Given the description of an element on the screen output the (x, y) to click on. 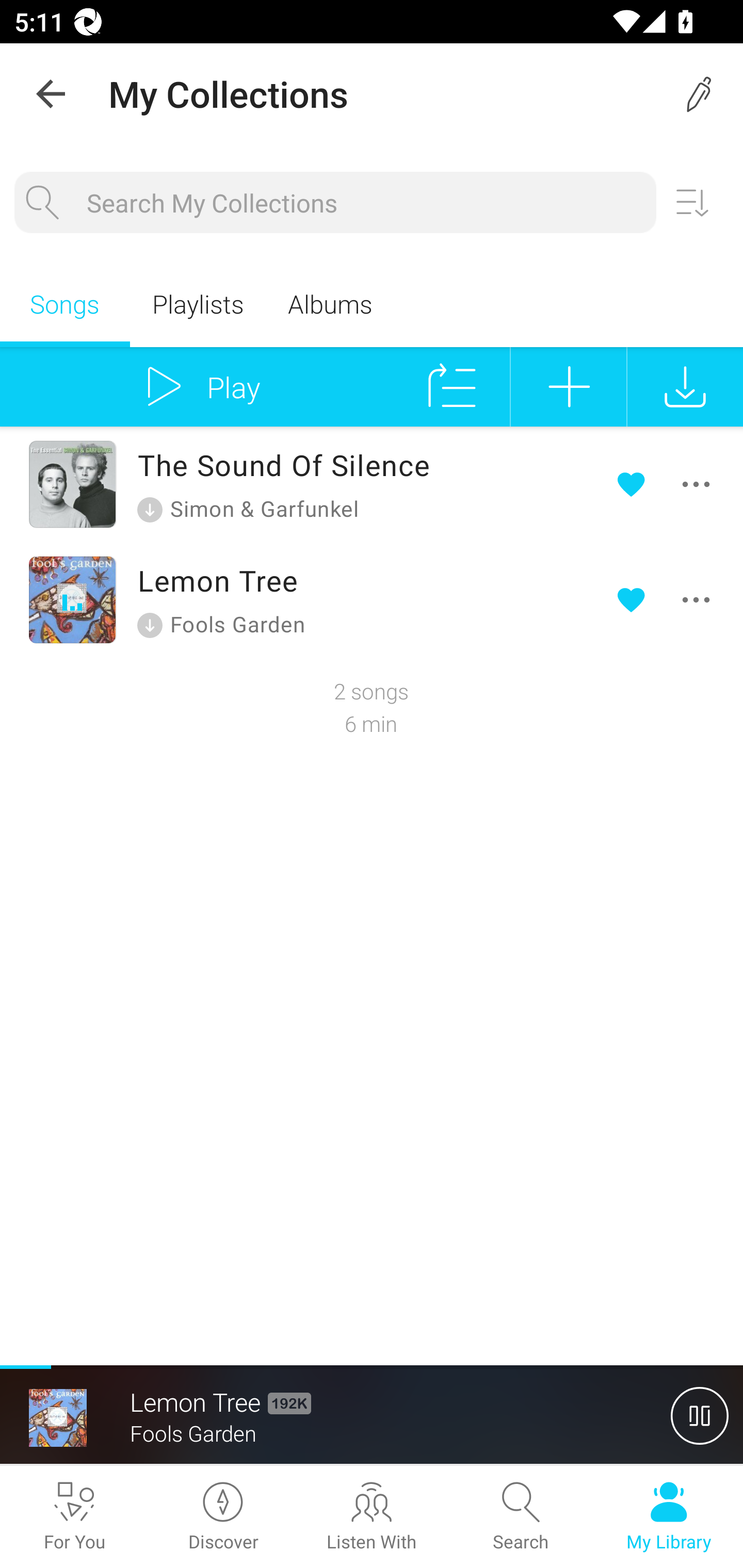
Edit (699, 93)
Search My Collections (364, 202)
Playlists (197, 303)
Albums (330, 303)
Play (197, 386)
add to queue (451, 386)
加入至歌單 (568, 386)
下載歌曲至手機 (685, 386)
The Sound Of Silence 已下載 Simon & Garfunkel 更多操作選項 (371, 484)
更多操作選項 (667, 484)
Lemon Tree 已下載 Fools Garden 更多操作選項 (371, 599)
更多操作選項 (667, 599)
暫停播放 (699, 1415)
For You (74, 1517)
Discover (222, 1517)
Listen With (371, 1517)
Search (519, 1517)
My Library (668, 1517)
